Given the description of an element on the screen output the (x, y) to click on. 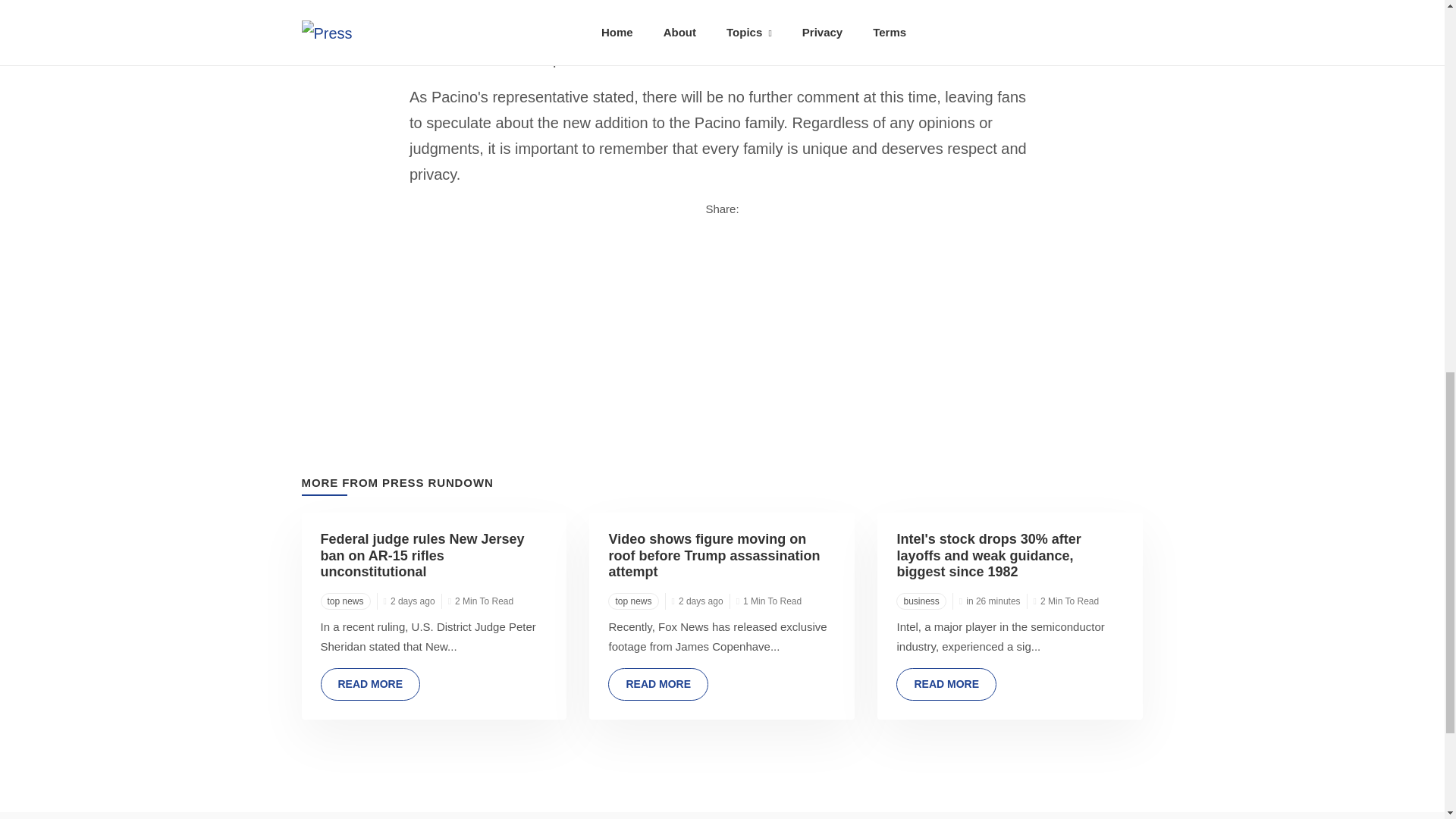
READ MORE (370, 684)
top news (633, 600)
business (920, 600)
READ MORE (657, 684)
top news (344, 600)
READ MORE (945, 684)
